Given the description of an element on the screen output the (x, y) to click on. 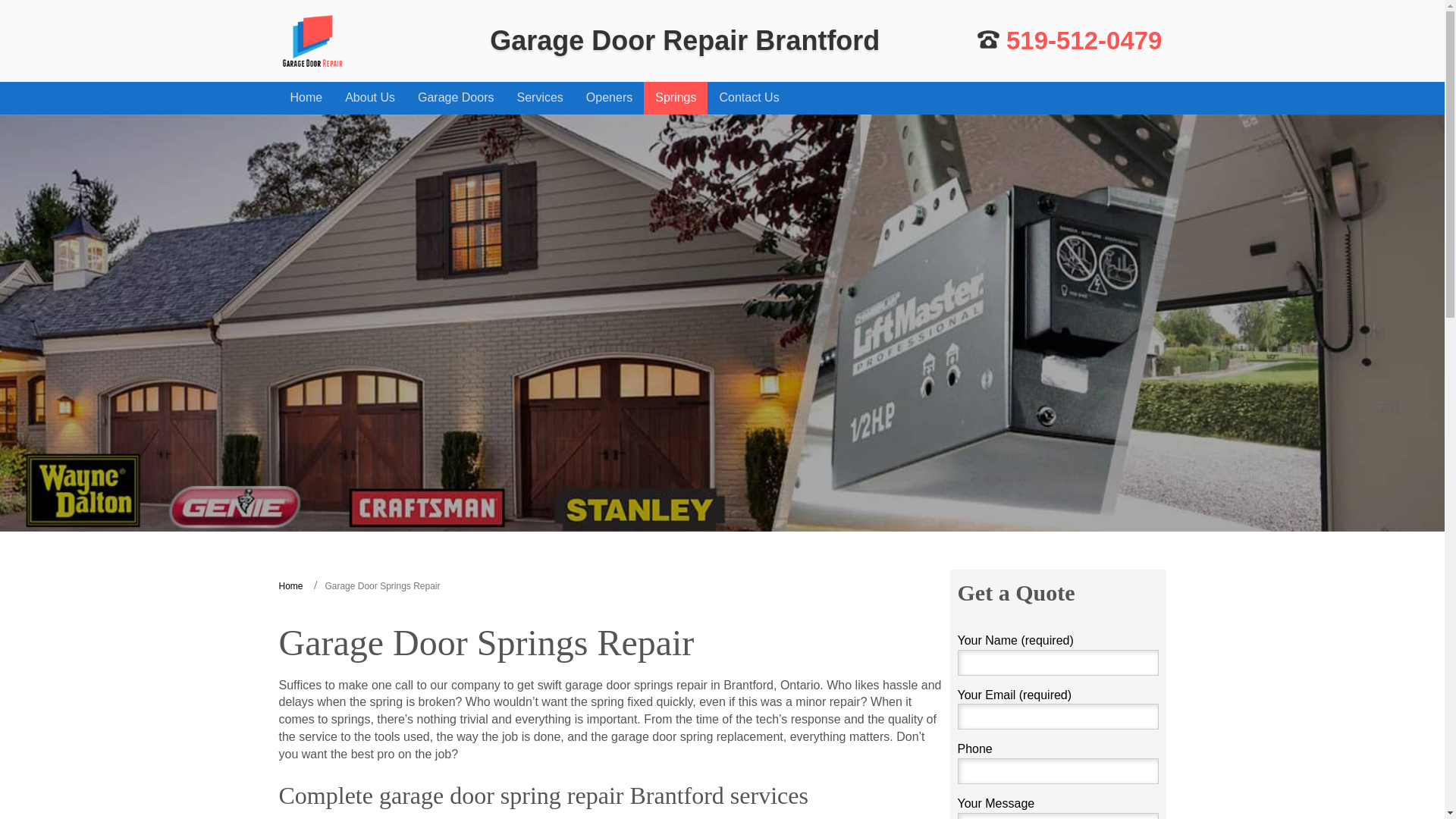
Services (539, 97)
Contact Us (748, 97)
About Us (369, 97)
Garage Doors (455, 97)
Springs (675, 97)
Home (306, 97)
Home (290, 585)
519-512-0479 (1070, 40)
Openers (609, 97)
